Given the description of an element on the screen output the (x, y) to click on. 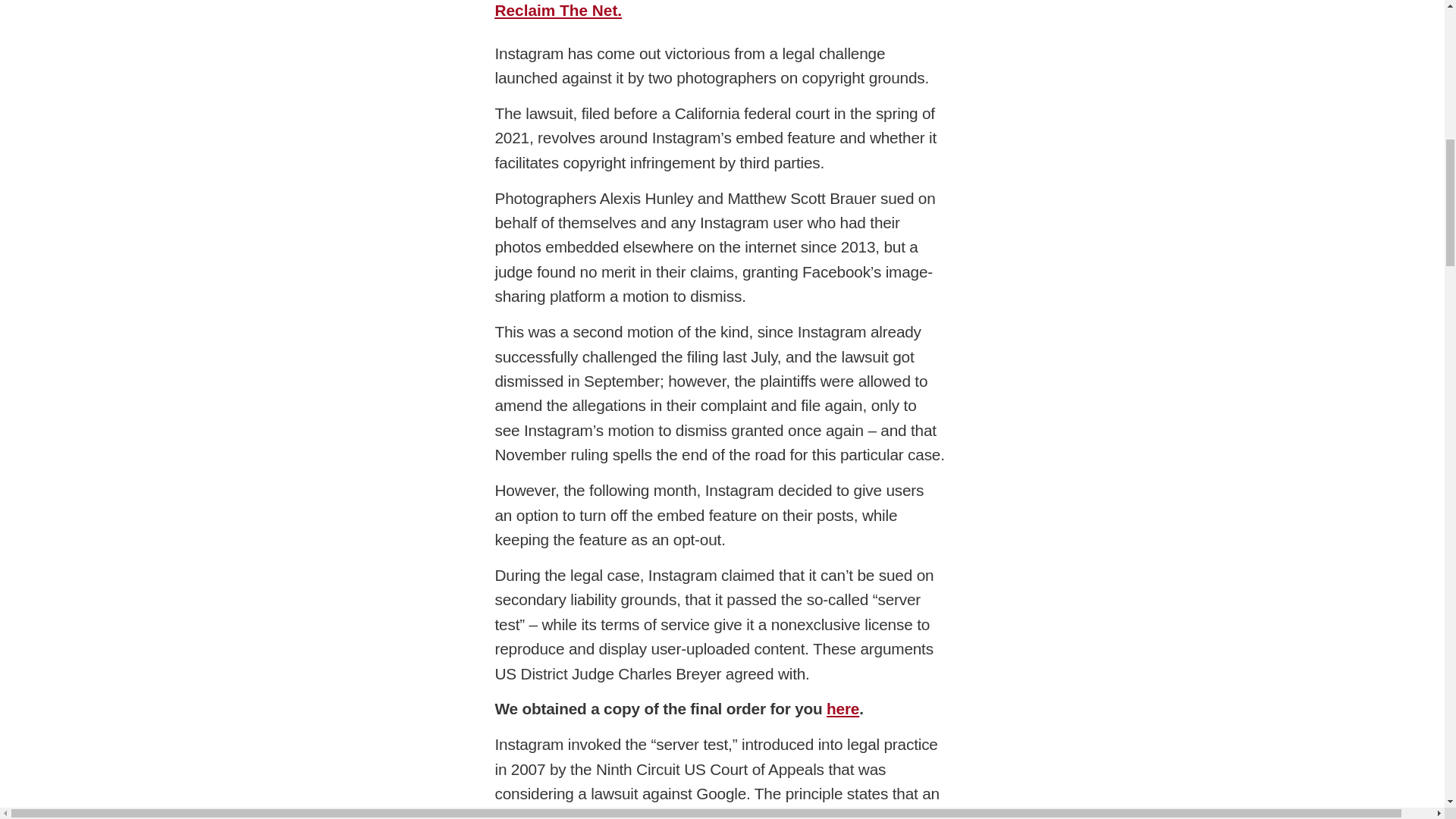
here (843, 708)
subscribe to Reclaim The Net. (714, 9)
